Given the description of an element on the screen output the (x, y) to click on. 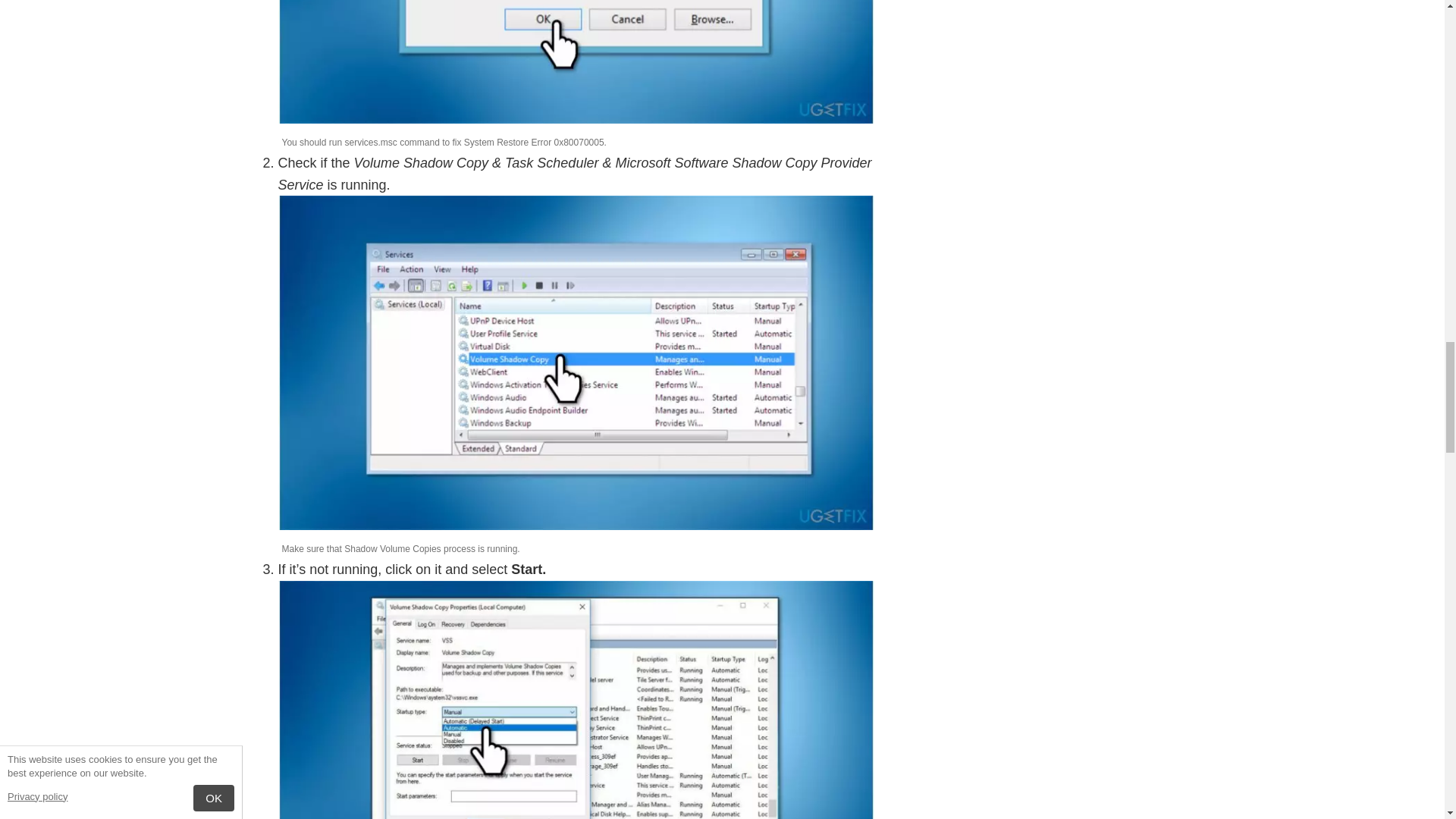
Ways to fix System Restore Error 0x80070005 (575, 62)
